Given the description of an element on the screen output the (x, y) to click on. 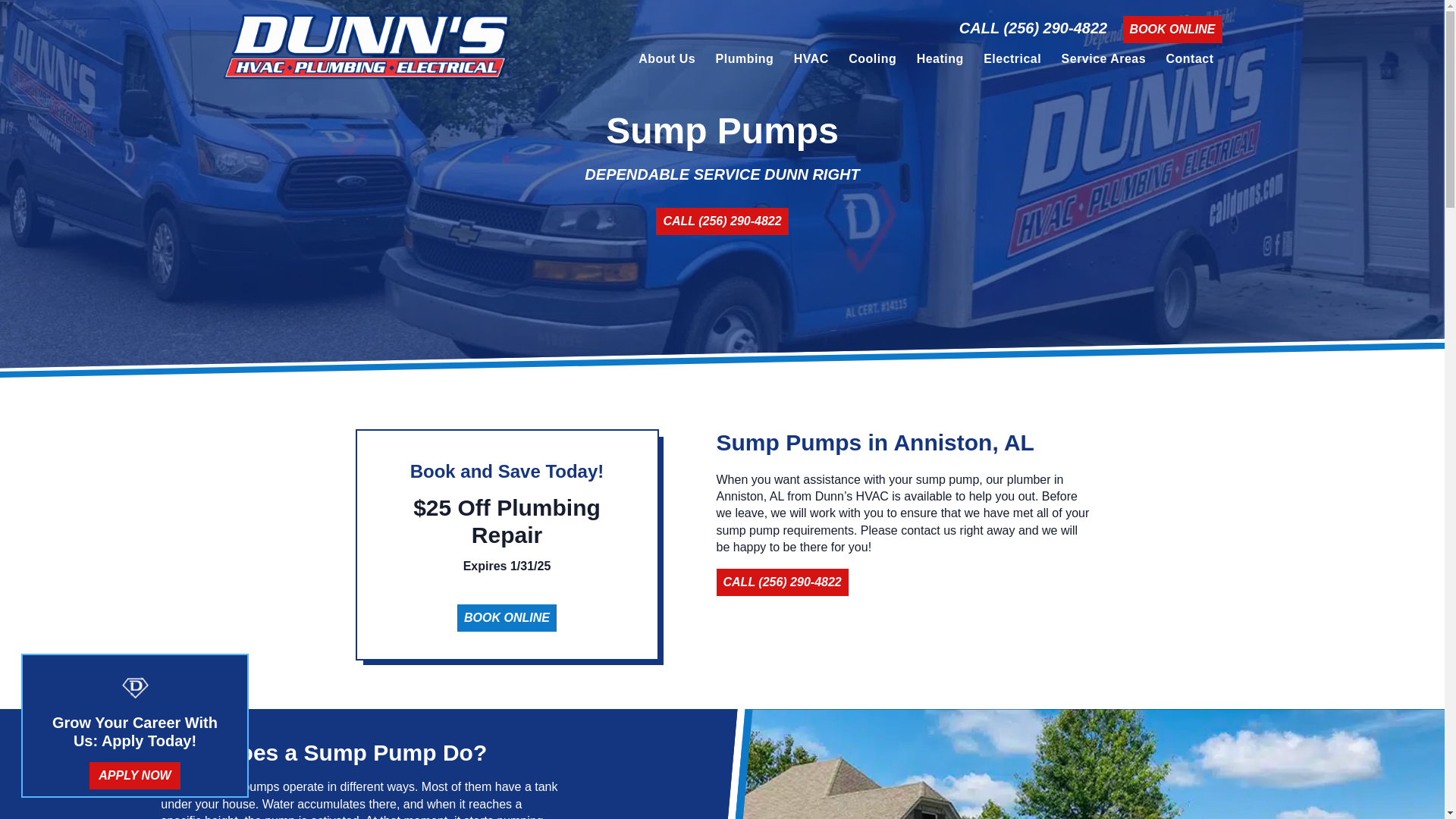
BOOK ONLINE (1172, 28)
Plumbing (745, 61)
HVAC (811, 61)
Cooling (872, 61)
Heating (940, 61)
About Us (666, 61)
